Given the description of an element on the screen output the (x, y) to click on. 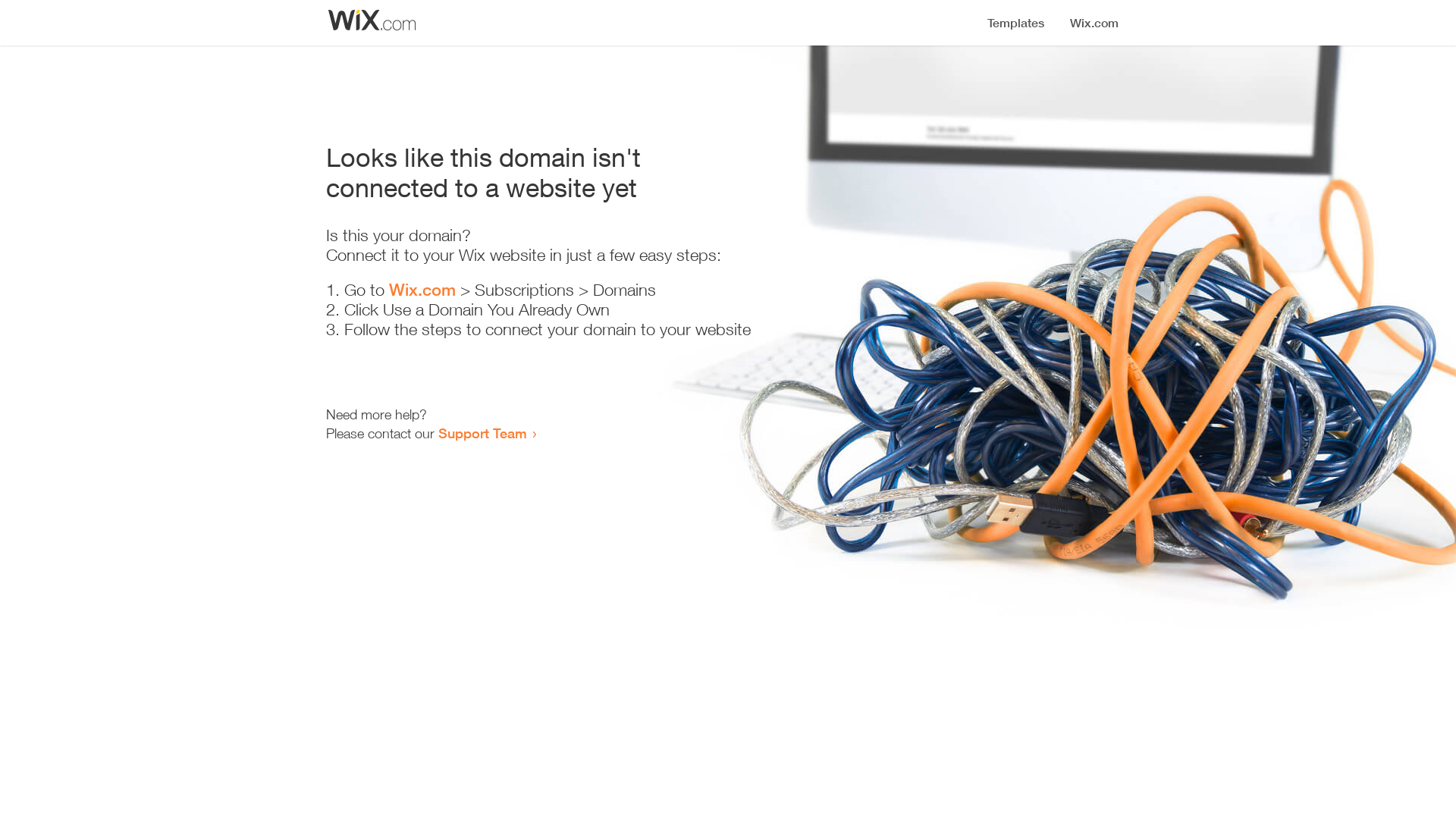
Support Team Element type: text (482, 432)
Wix.com Element type: text (422, 289)
